Given the description of an element on the screen output the (x, y) to click on. 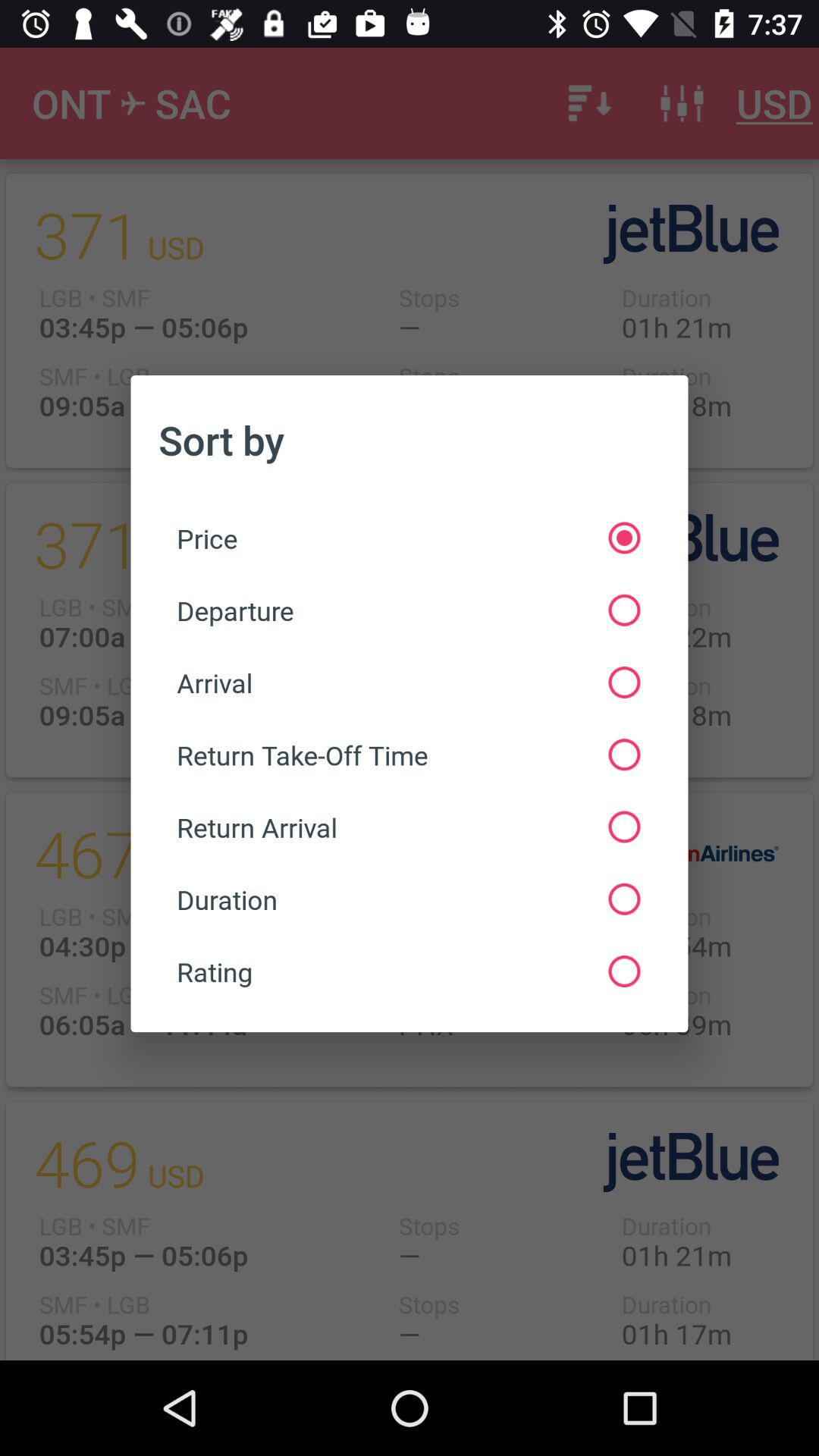
jump until the return arrival item (408, 827)
